Given the description of an element on the screen output the (x, y) to click on. 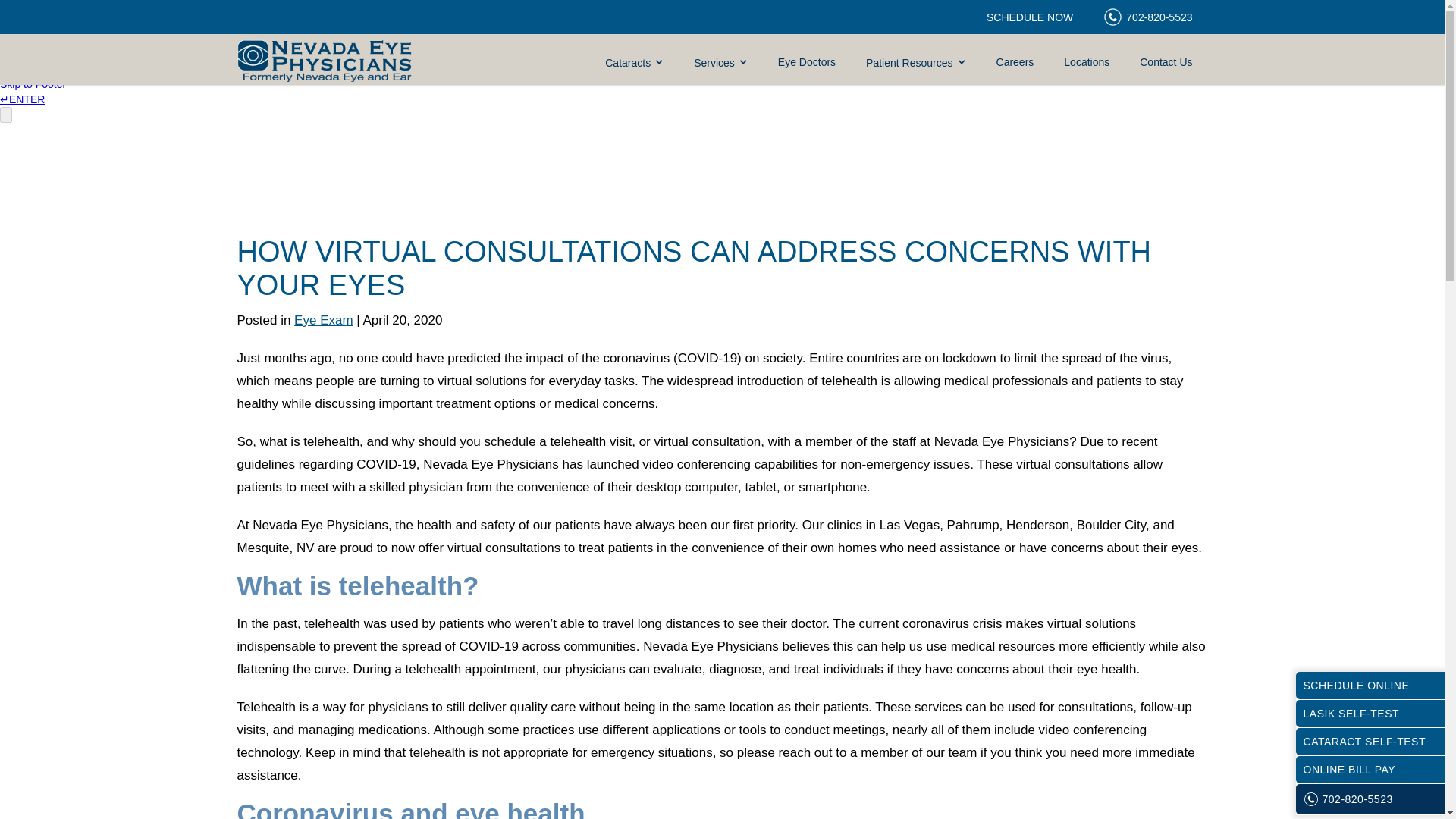
Eye Doctors (806, 61)
Cataracts (633, 62)
Locations (1086, 61)
Cataracts (633, 62)
Click Here to Call 702-820-5523 (1147, 17)
SCHEDULE NOW (1029, 17)
Contact Us (1165, 61)
702-820-5523 (1147, 17)
Services (720, 62)
Patient Resources (914, 62)
Careers (1015, 61)
Services (720, 62)
Nevada Eye Physicians - Click Here For the Homepage (322, 60)
Click Here to Access Our Appointment Scheduler (1029, 17)
